Given the description of an element on the screen output the (x, y) to click on. 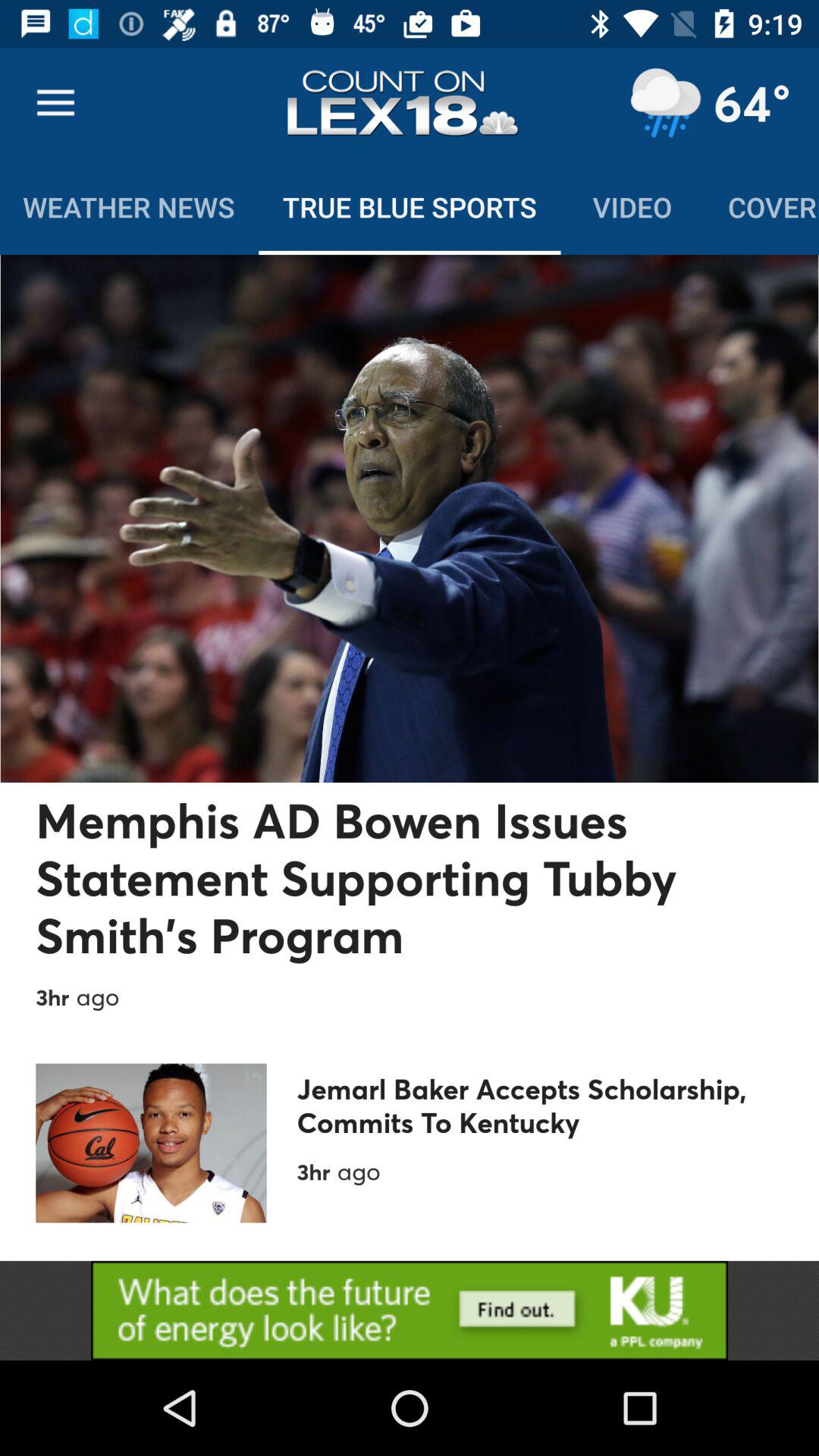
click on the weather percentage from the right top (752, 103)
